Given the description of an element on the screen output the (x, y) to click on. 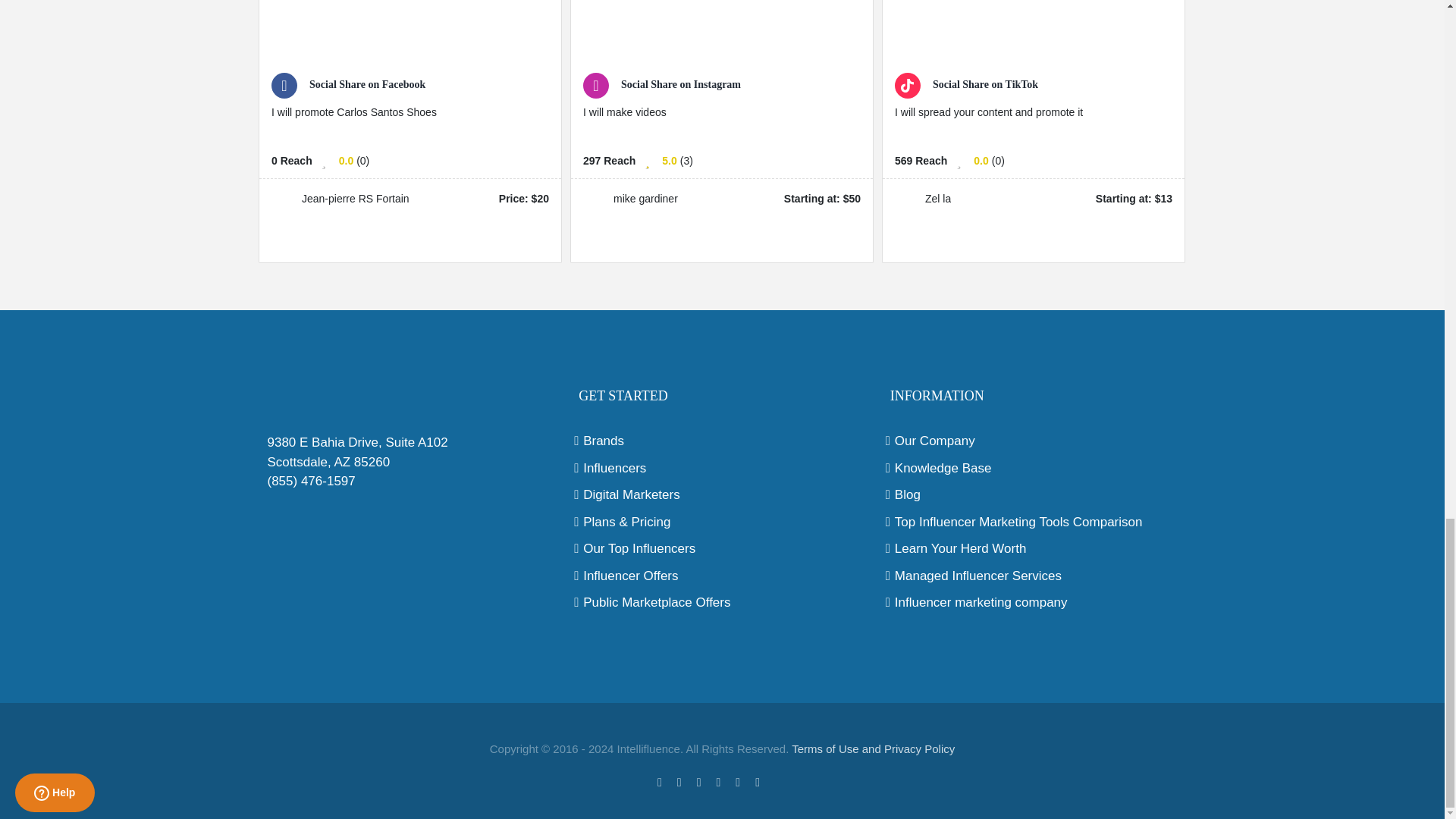
Facebook (660, 782)
Instagram (699, 782)
Digital Marketers (722, 495)
Twitter (679, 782)
Top Influencer Marketing Tools Comparison (1034, 522)
Number of reviews (686, 160)
Terms of Use and Privacy Policy (873, 748)
Number of reviews (997, 160)
Facebook (660, 782)
YouTube (737, 782)
Brands (722, 441)
Number of reviews (362, 160)
Influencers (722, 468)
Our Company (1034, 441)
Managed Influencer Services (1034, 576)
